Given the description of an element on the screen output the (x, y) to click on. 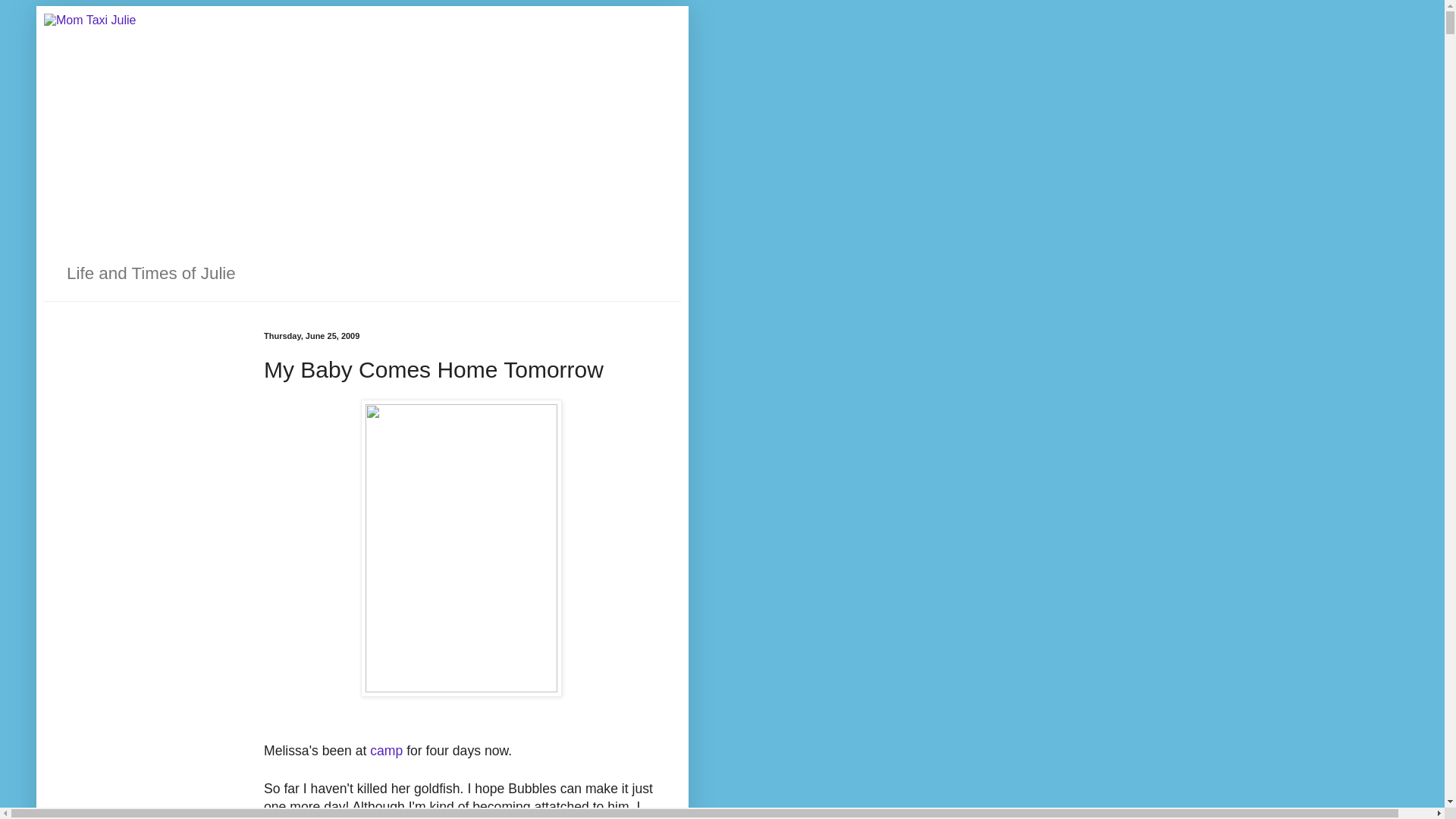
camp (386, 750)
